Given the description of an element on the screen output the (x, y) to click on. 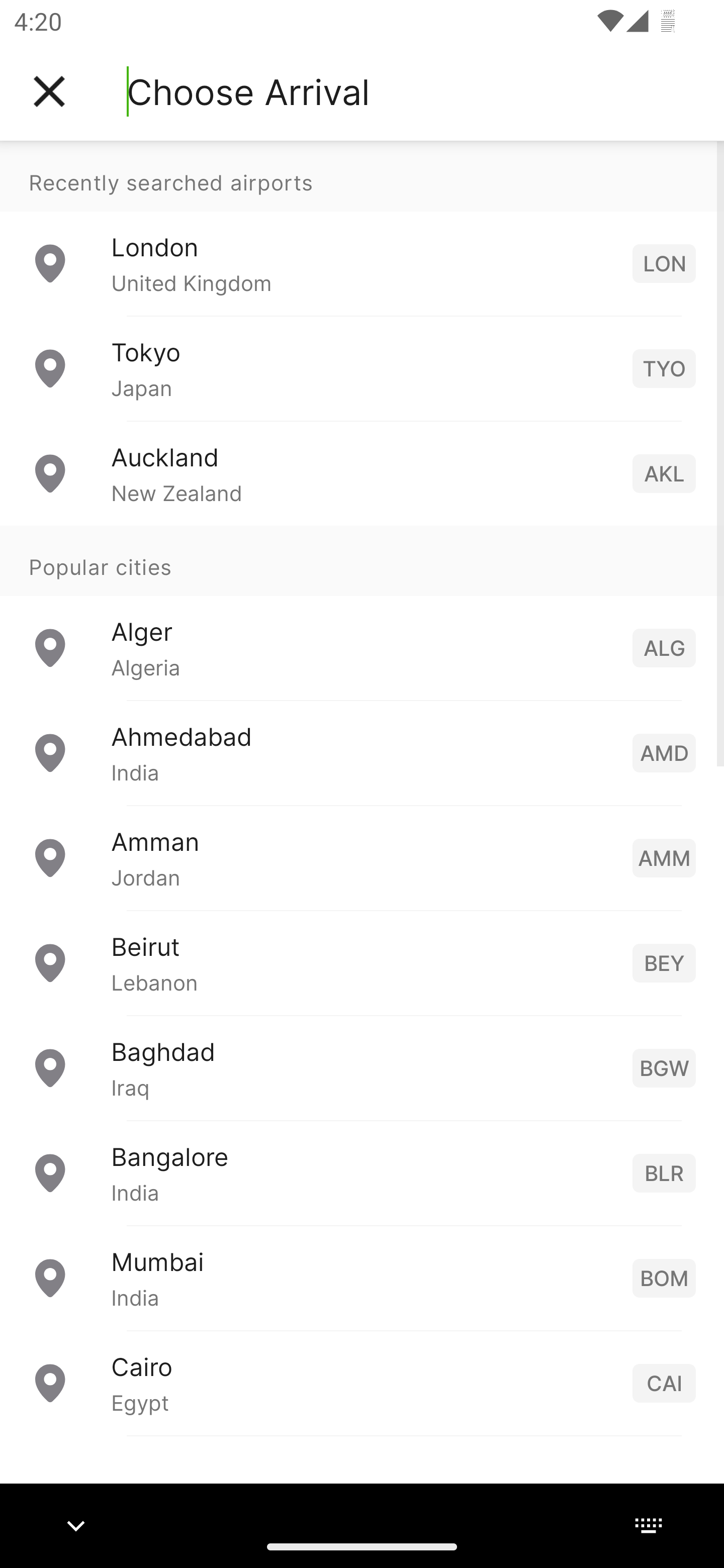
Choose Arrival (247, 91)
Recently searched airports (362, 176)
Tokyo Japan TYO (362, 367)
Auckland New Zealand AKL (362, 472)
Popular cities Alger Algeria ALG (362, 612)
Popular cities (362, 560)
Ahmedabad India AMD (362, 751)
Amman Jordan AMM (362, 856)
Beirut Lebanon BEY (362, 961)
Baghdad Iraq BGW (362, 1066)
Bangalore India BLR (362, 1171)
Mumbai India BOM (362, 1276)
Cairo Egypt CAI (362, 1381)
